Given the description of an element on the screen output the (x, y) to click on. 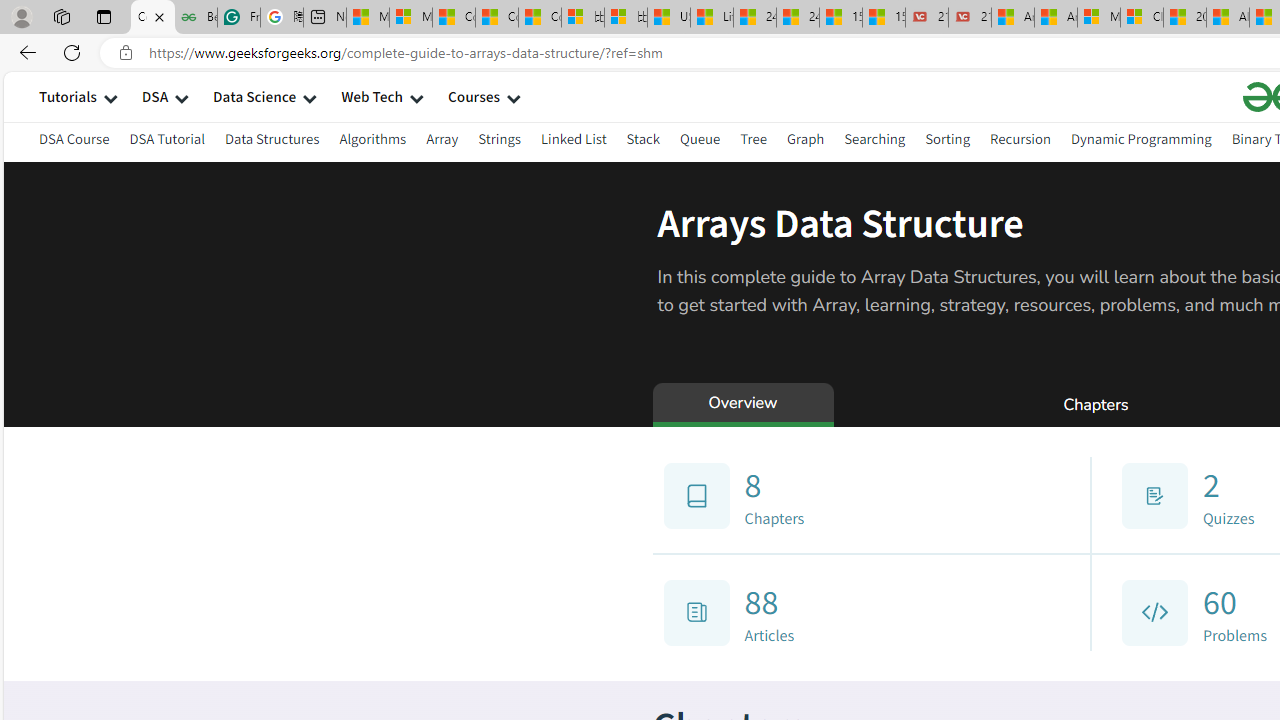
Searching (875, 142)
Free AI Writing Assistance for Students | Grammarly (238, 17)
Data Science (254, 96)
Strings (499, 142)
Linked List (572, 138)
Algorithms (372, 142)
Dynamic Programming (1140, 142)
Data Structures (271, 138)
21 Movies That Outdid the Books They Were Based On (969, 17)
Array (442, 142)
DSA Tutorial (167, 138)
